Given the description of an element on the screen output the (x, y) to click on. 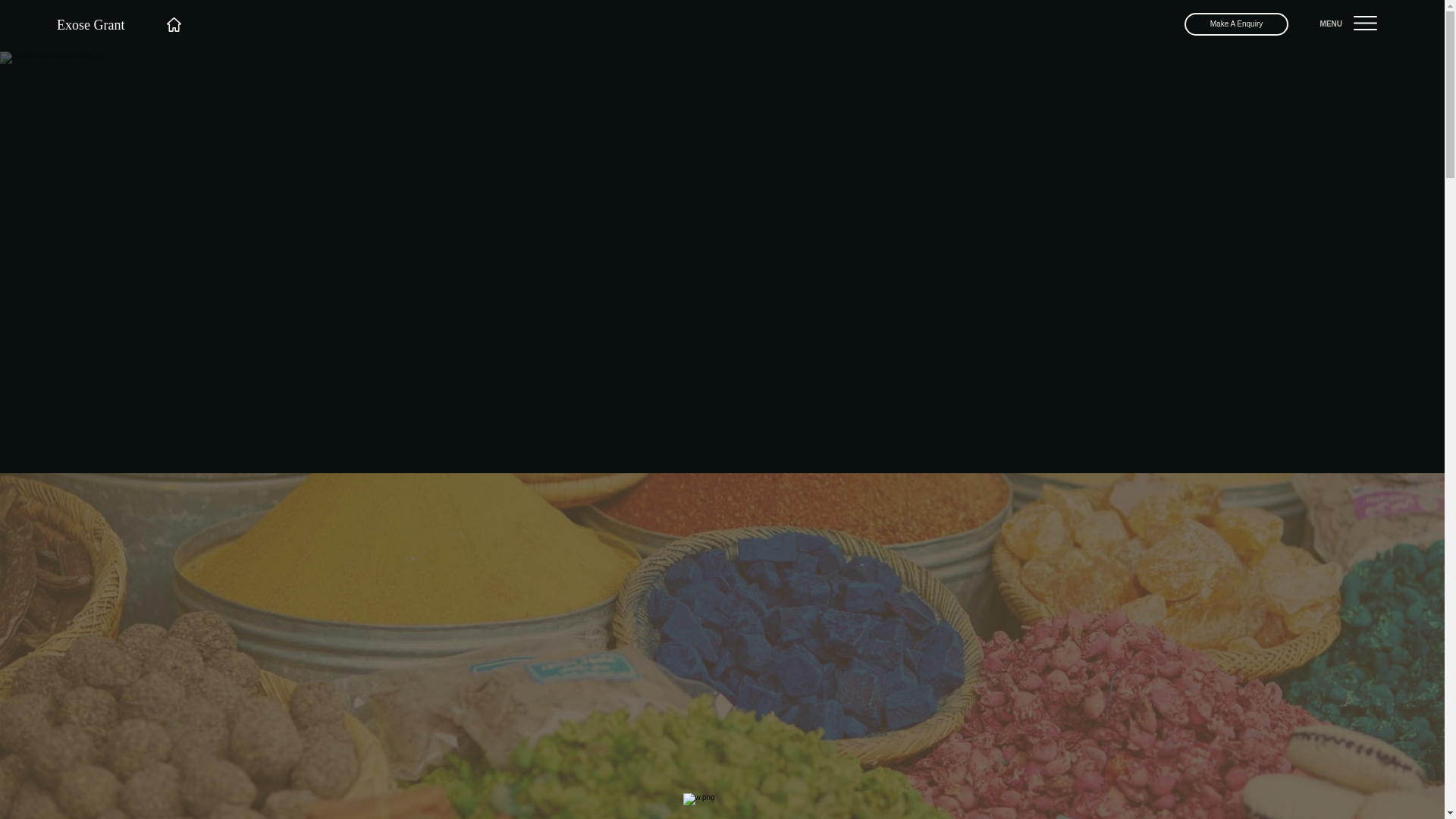
Make A Enquiry (1236, 24)
MENU (1331, 23)
Exose Grant  (92, 24)
